Given the description of an element on the screen output the (x, y) to click on. 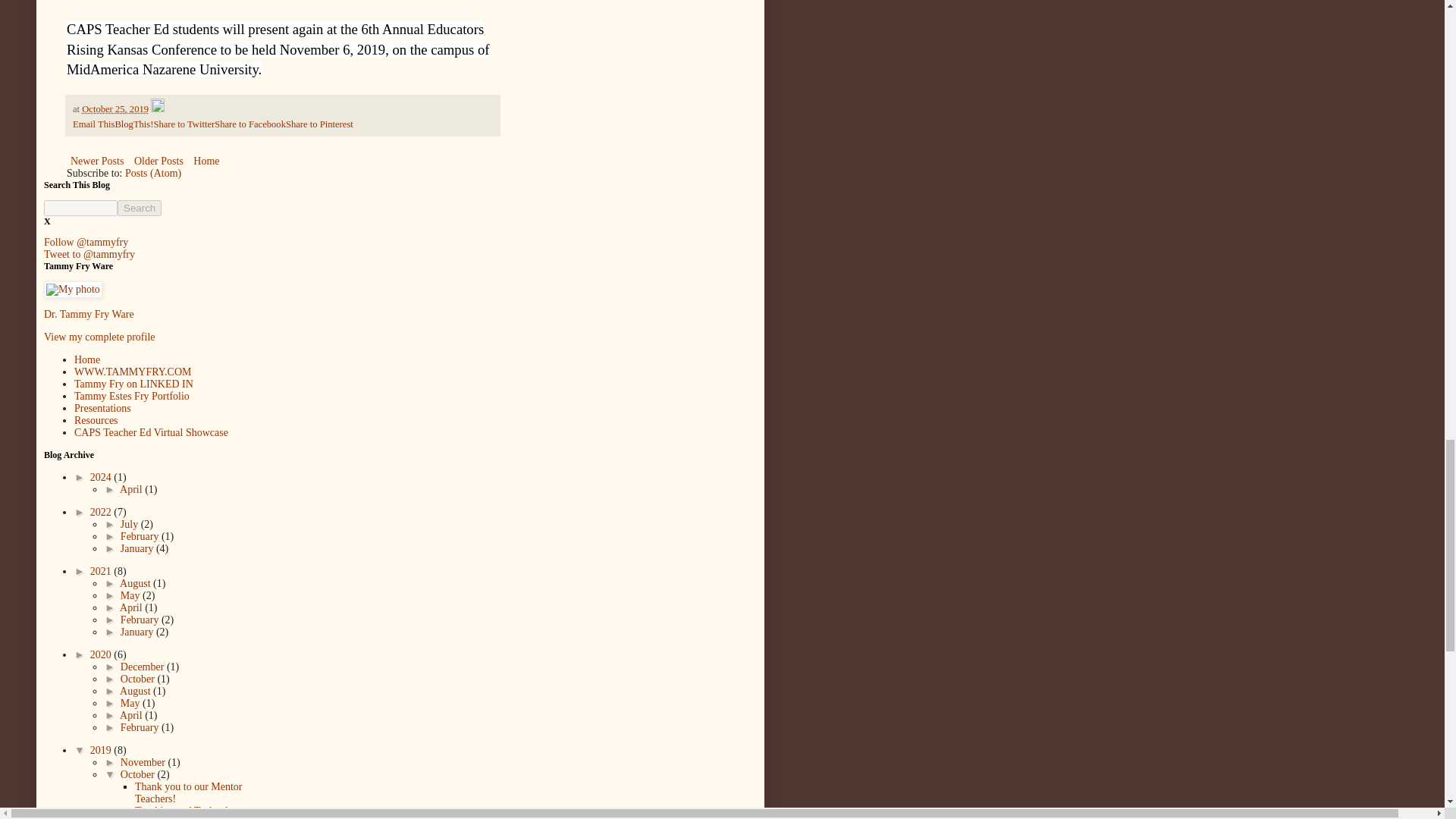
Newer Posts (97, 160)
Search (139, 207)
Newer Posts (97, 160)
Email This (93, 123)
Presentations (102, 408)
2024 (102, 477)
WWW.TAMMYFRY.COM (132, 371)
Resources (95, 419)
Share to Facebook (249, 123)
Share to Facebook (249, 123)
